Given the description of an element on the screen output the (x, y) to click on. 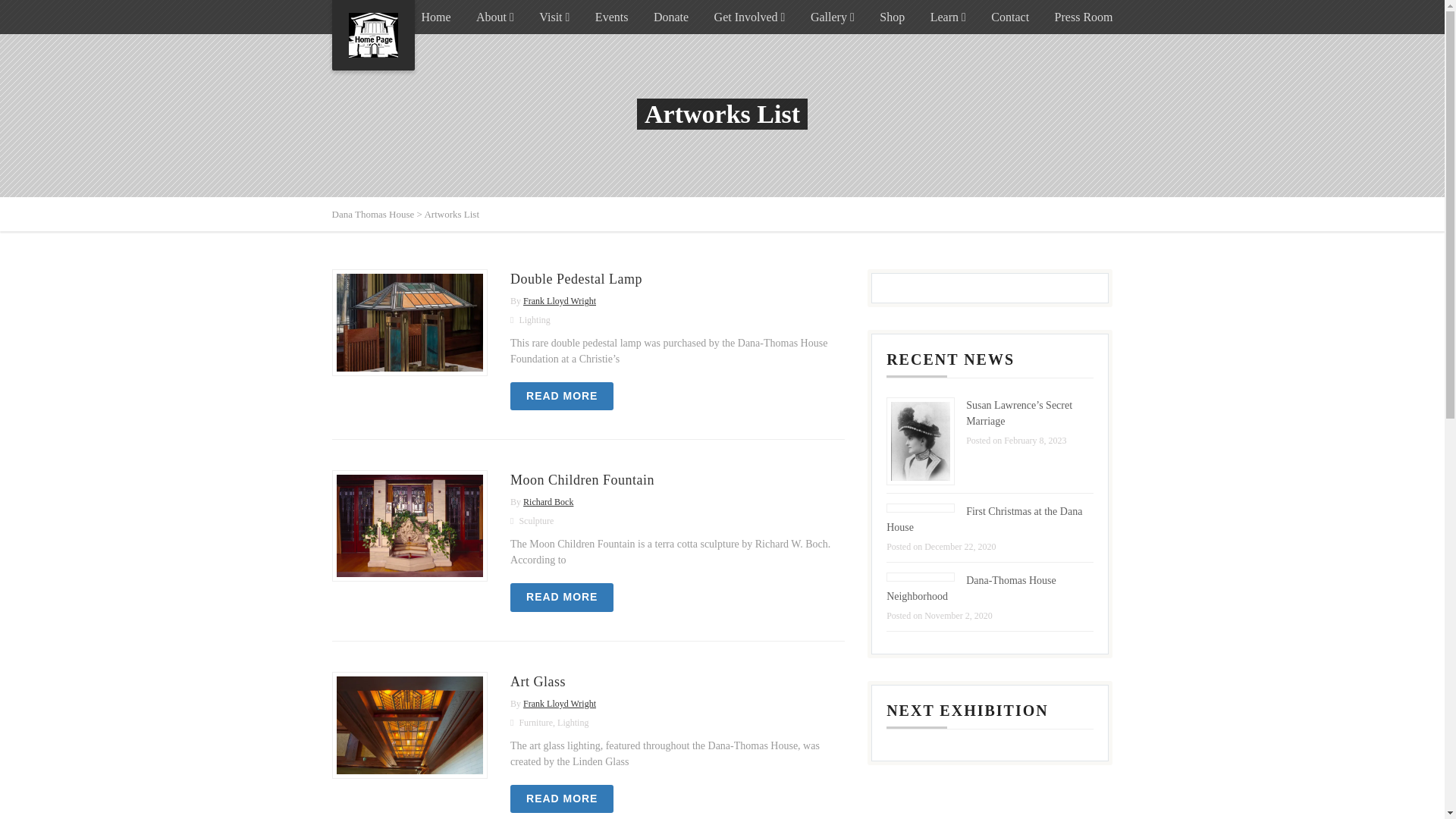
Events (611, 17)
About (494, 17)
Moon Children Fountain (582, 479)
Learn (948, 17)
Go to Dana Thomas House. (372, 214)
Get Involved (750, 17)
Gallery (832, 17)
Contact (1010, 17)
Dana Thomas House (373, 35)
Press Room (1083, 17)
